Given the description of an element on the screen output the (x, y) to click on. 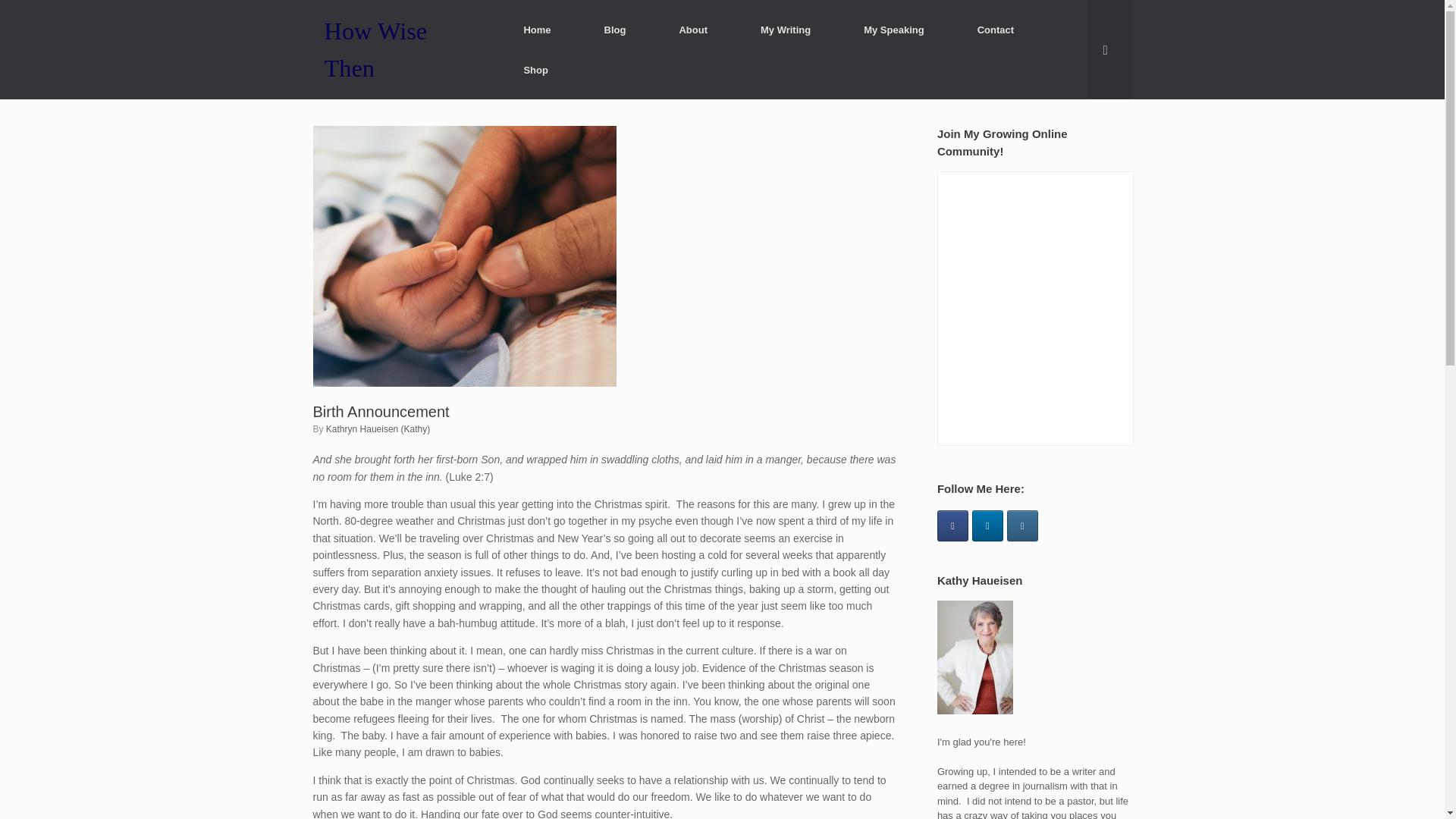
My Writing (785, 29)
Home (536, 29)
About (692, 29)
Shop (535, 69)
My Speaking (893, 29)
How Wise Then (398, 49)
Contact (995, 29)
How Wise Then on Linkedin (987, 525)
How Wise Then (398, 49)
How Wise Then on Facebook (952, 525)
Blog (615, 29)
How Wise Then on Instagram (1022, 525)
